Given the description of an element on the screen output the (x, y) to click on. 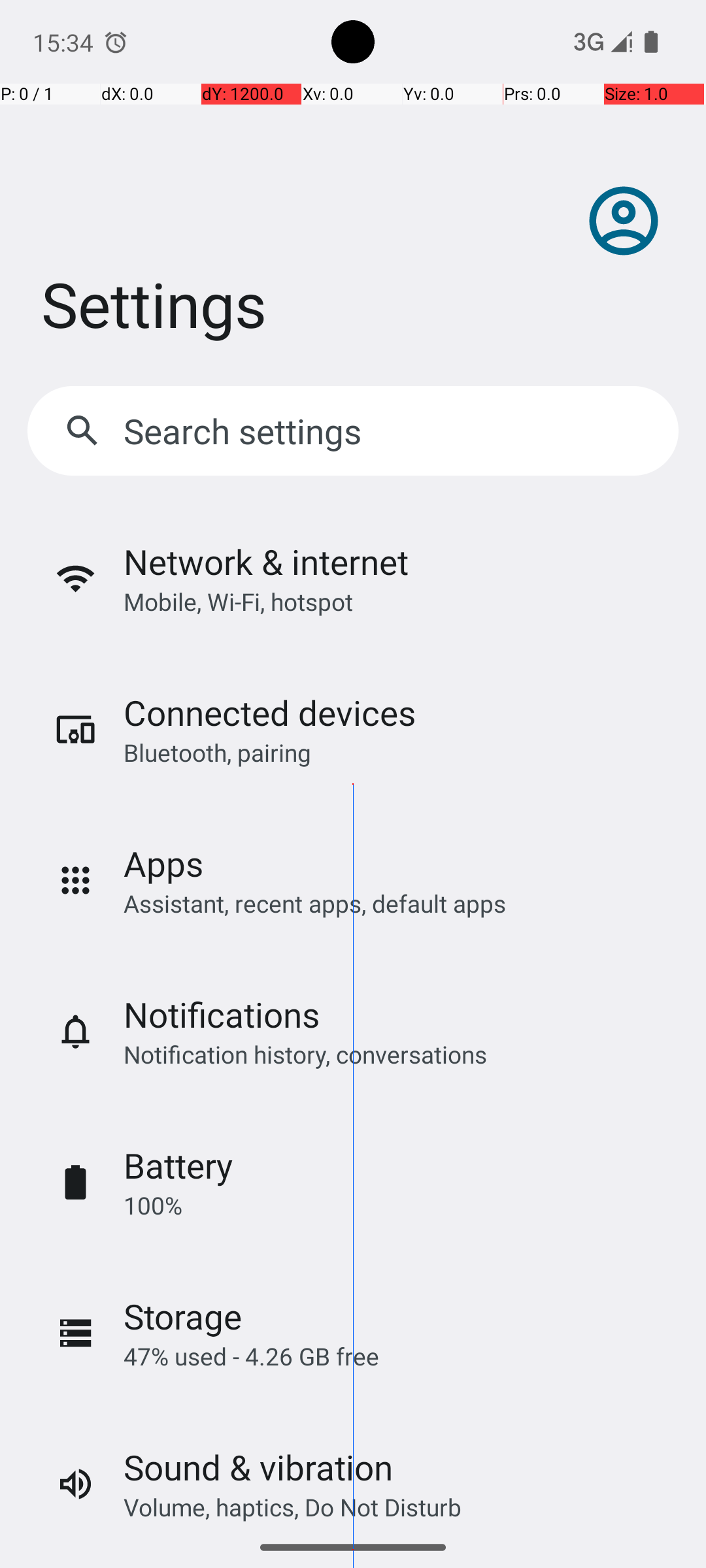
47% used - 4.26 GB free Element type: android.widget.TextView (251, 1355)
